Given the description of an element on the screen output the (x, y) to click on. 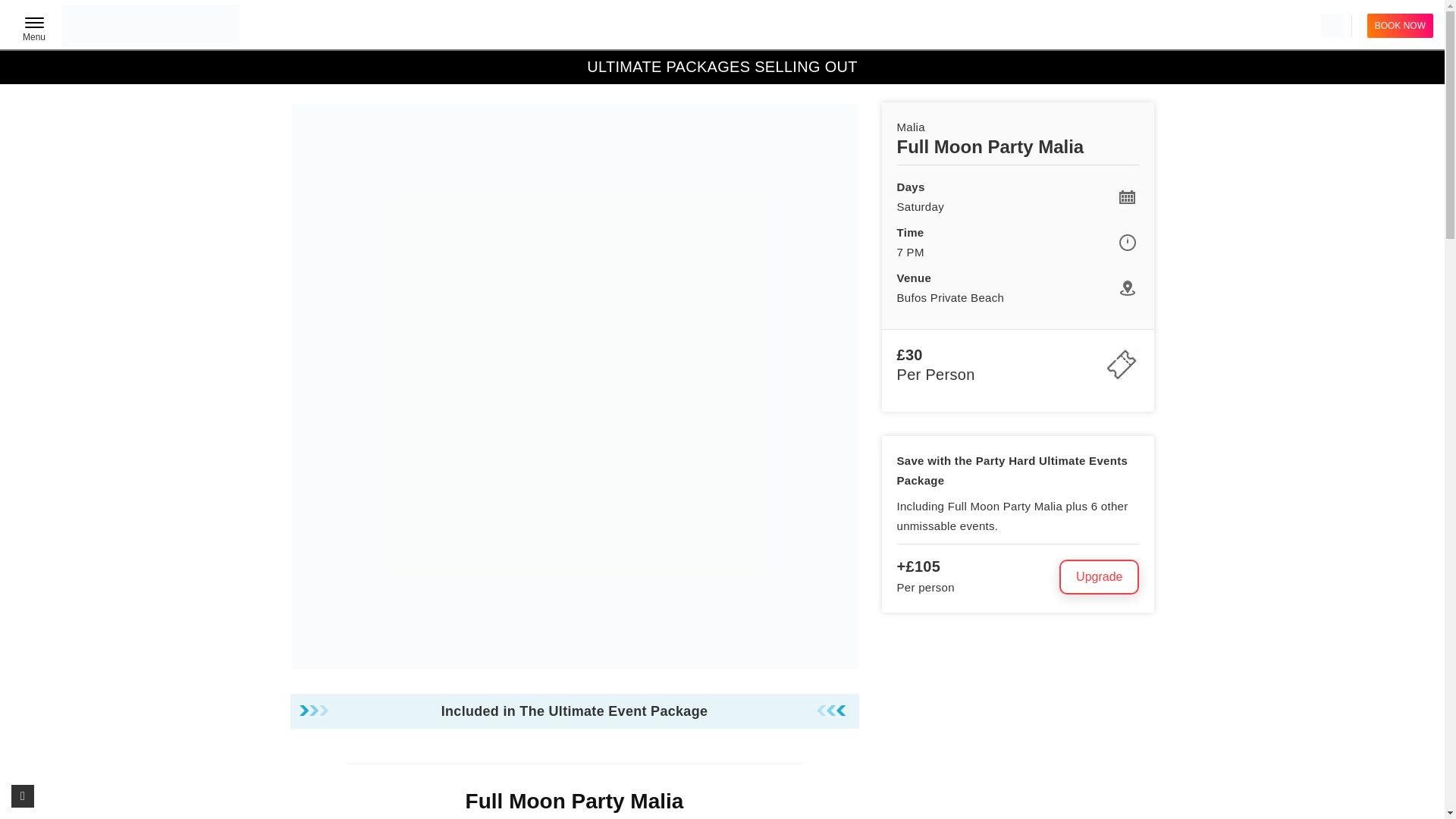
Party Hard Travel (150, 24)
BOOK NOW (33, 31)
